Given the description of an element on the screen output the (x, y) to click on. 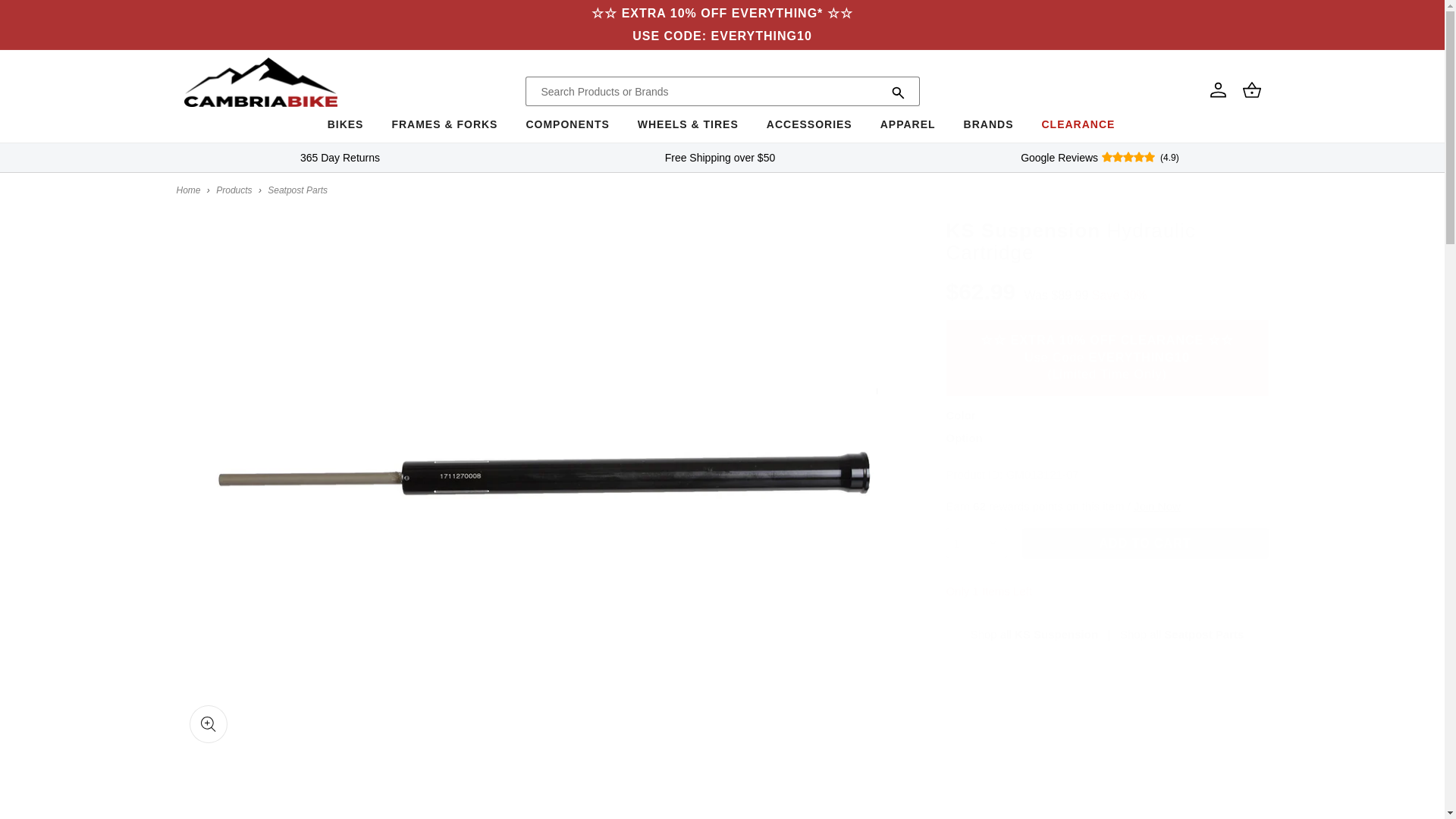
Cambria Bike (188, 190)
Skip to content (45, 17)
Seatpost Parts (1181, 634)
Seatpost Parts (297, 190)
Products (233, 190)
